Given the description of an element on the screen output the (x, y) to click on. 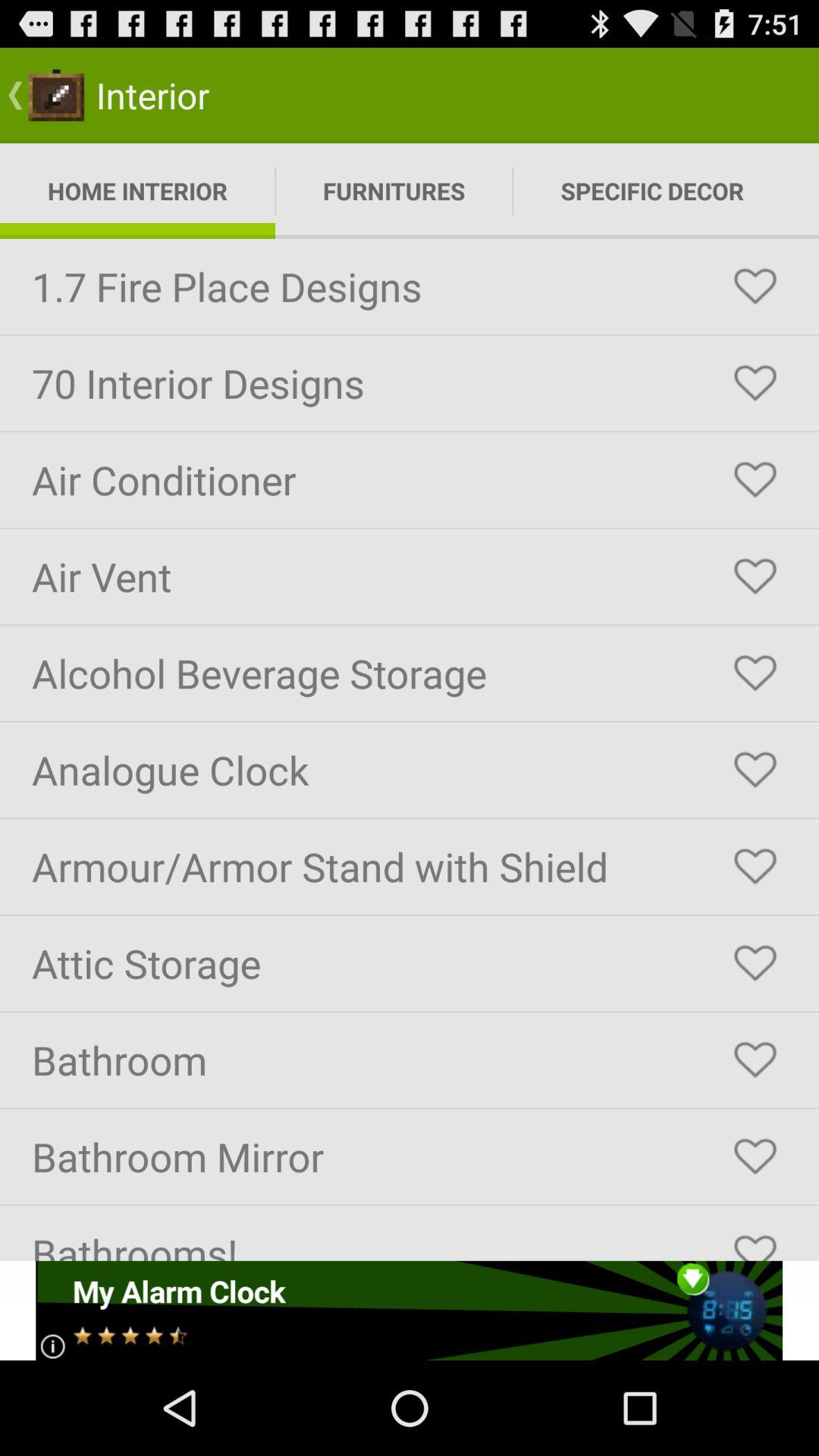
add to favorite (755, 769)
